Given the description of an element on the screen output the (x, y) to click on. 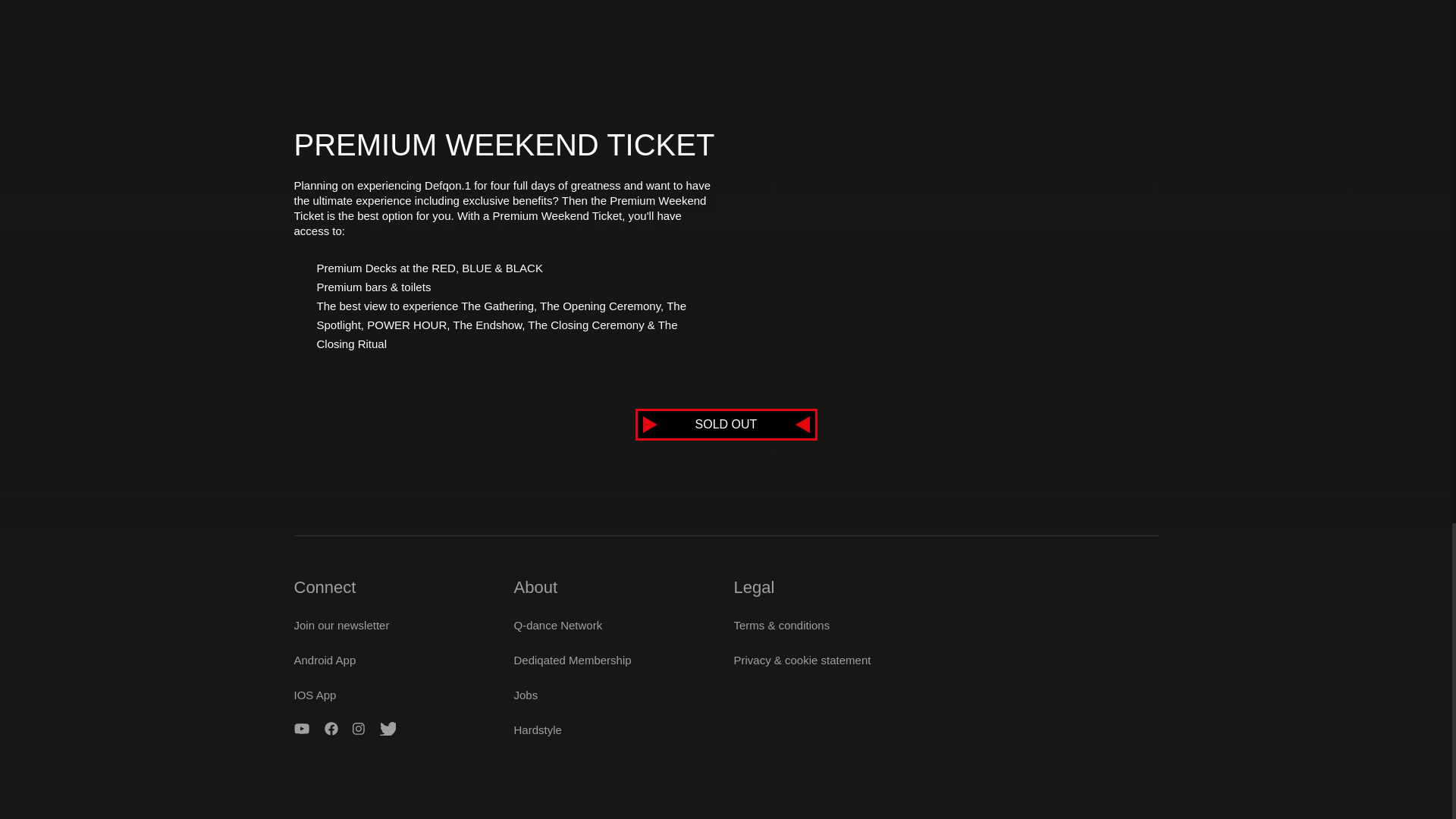
Dediqated Membership (572, 659)
Android App (325, 659)
Jobs (525, 694)
SOLD OUT (725, 424)
Join our newsletter (342, 625)
Hardstyle (537, 729)
IOS App (315, 694)
Q-dance Network (557, 625)
